Given the description of an element on the screen output the (x, y) to click on. 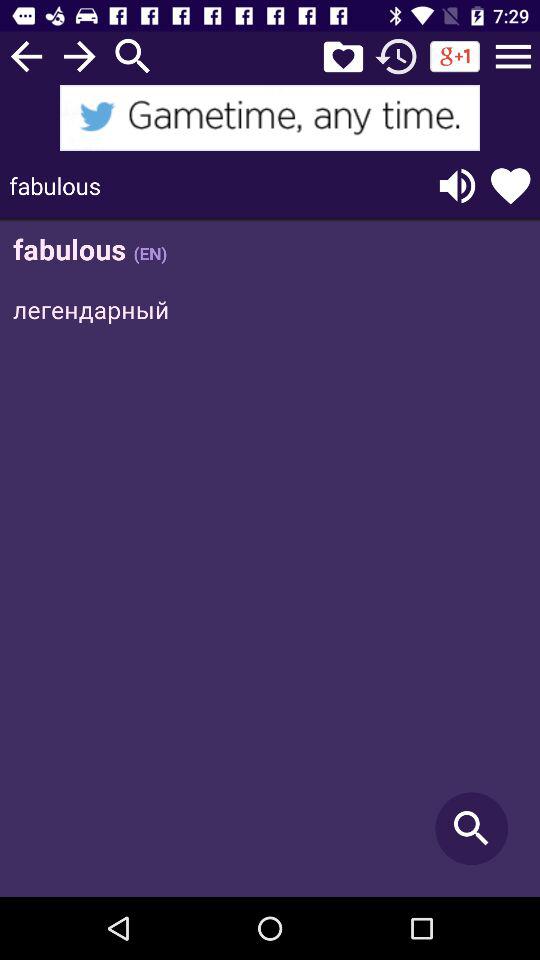
go to all (513, 56)
